Given the description of an element on the screen output the (x, y) to click on. 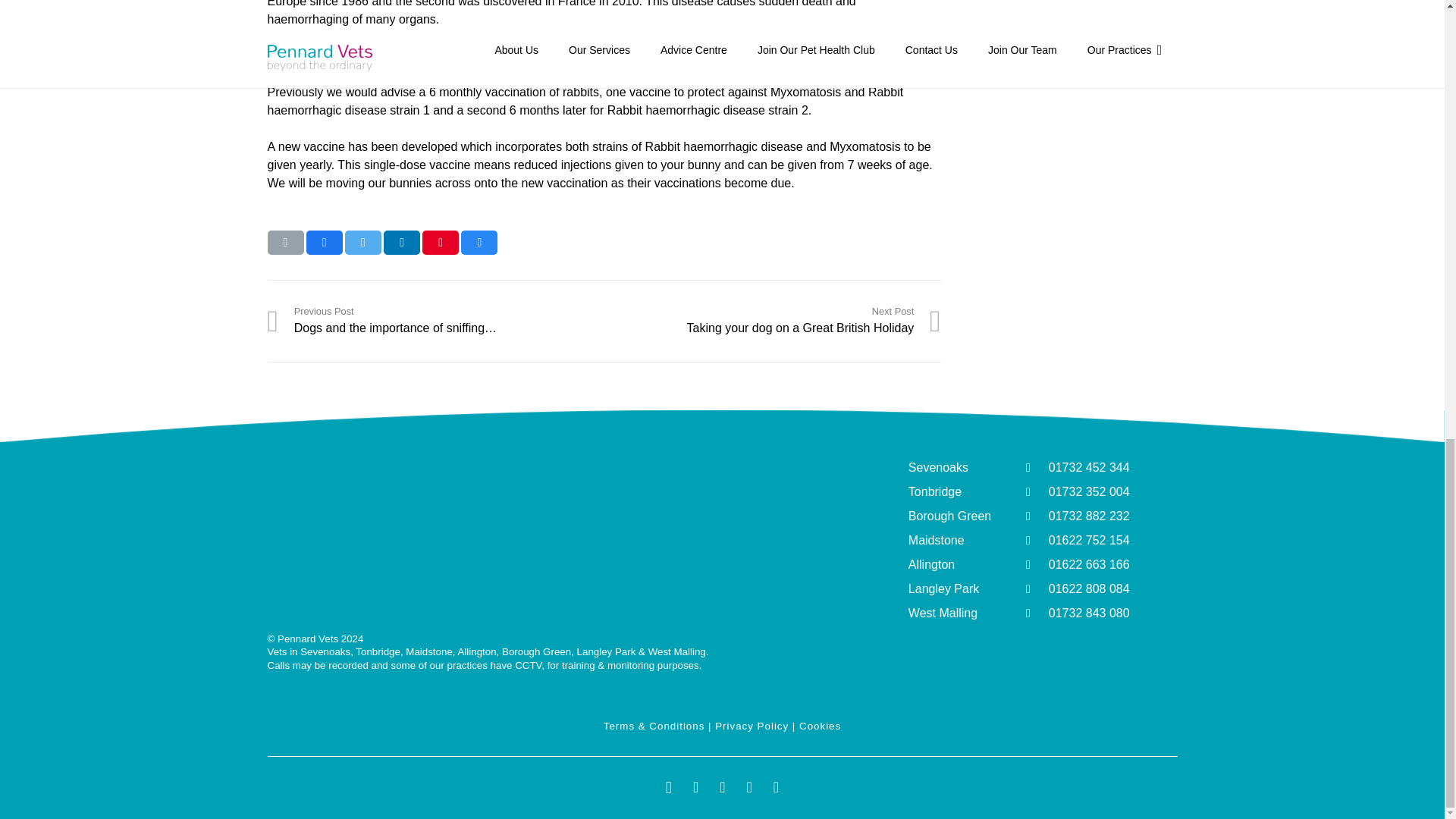
Share this (323, 242)
Share this (479, 242)
Share this (402, 242)
Taking your dog on a Great British Holiday (772, 319)
Email this (284, 242)
Tweet this (363, 242)
Pin this (440, 242)
